Given the description of an element on the screen output the (x, y) to click on. 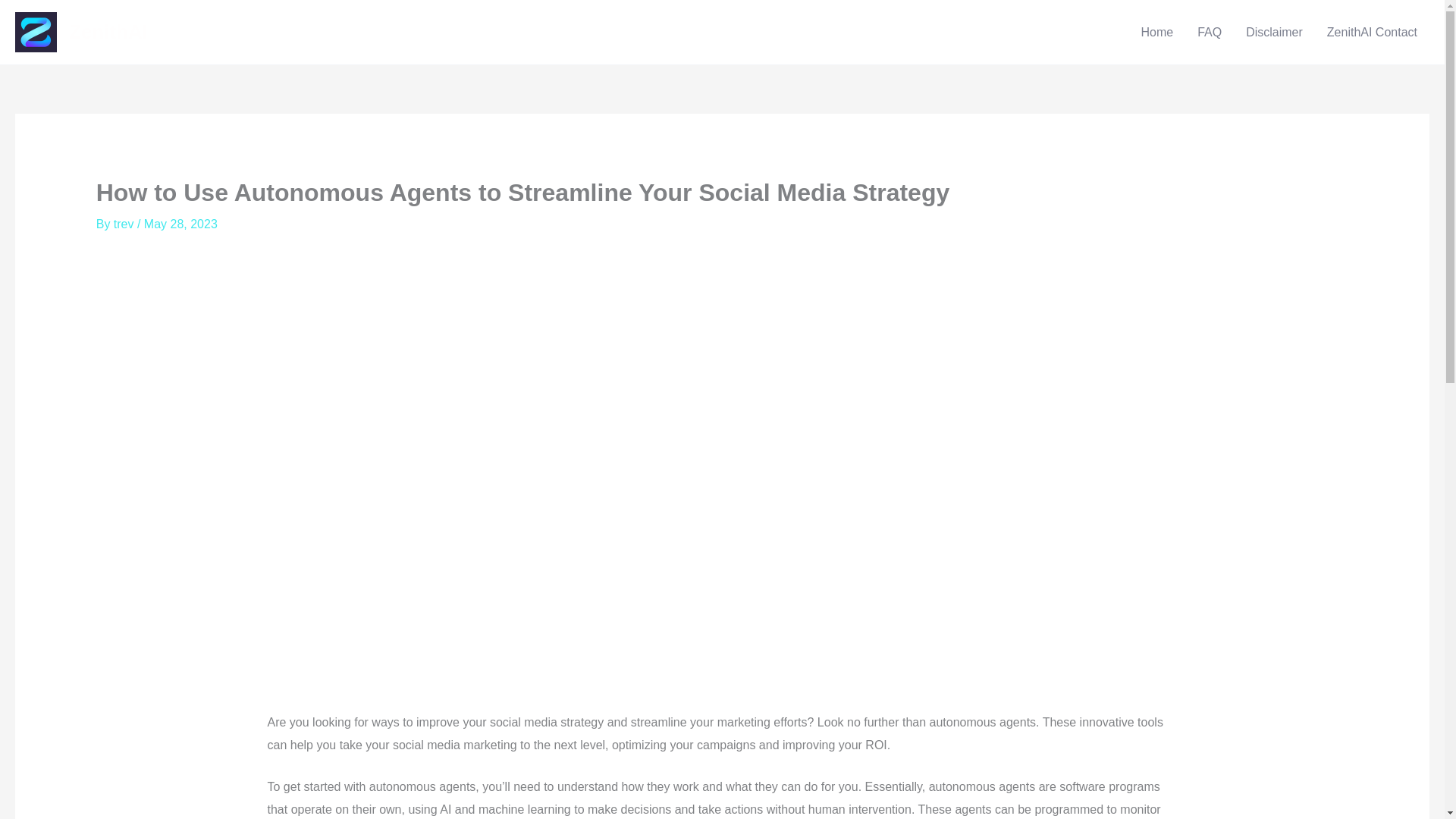
ZenithAI Contact (1371, 31)
View all posts by trev (124, 223)
ZenithAI (108, 31)
trev (124, 223)
Home (1156, 31)
Disclaimer (1273, 31)
